Given the description of an element on the screen output the (x, y) to click on. 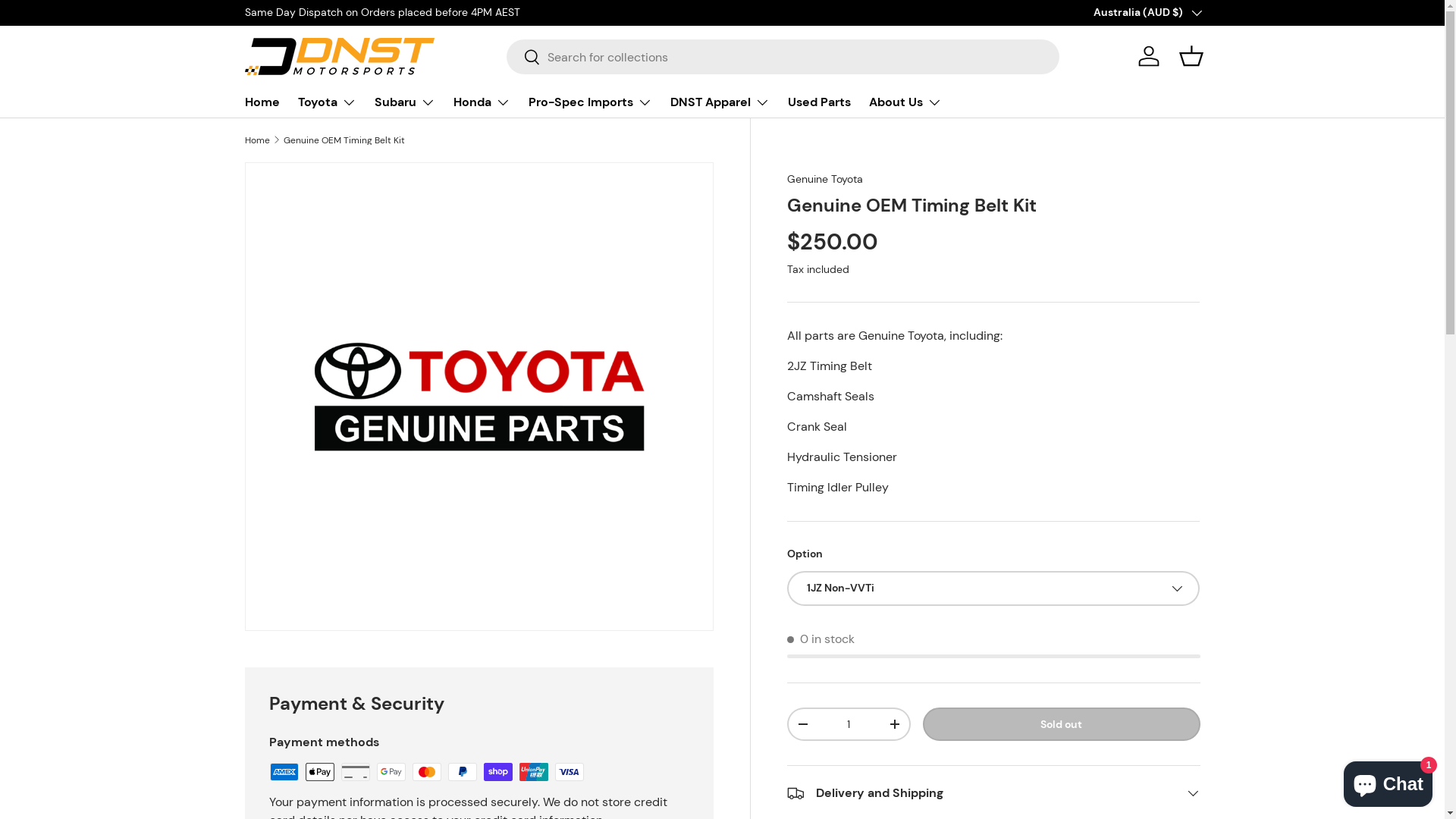
Home Element type: text (261, 101)
Log in Element type: text (1147, 55)
Basket Element type: text (1190, 55)
Sold out Element type: text (1061, 724)
Toyota Element type: text (326, 102)
Honda Element type: text (481, 102)
Pro-Spec Imports Element type: text (589, 102)
Search Element type: text (523, 57)
Australia (AUD $) Element type: text (1146, 12)
DNST Apparel Element type: text (719, 102)
Genuine OEM Timing Belt Kit Element type: text (343, 139)
Subaru Element type: text (404, 102)
1JZ Non-VVTi Element type: text (993, 588)
Genuine Toyota Element type: text (824, 178)
Home Element type: text (256, 139)
About Us Element type: text (905, 102)
Shopify online store chat Element type: hover (1388, 780)
+ Element type: text (894, 723)
Used Parts Element type: text (818, 101)
Skip to content Element type: text (68, 21)
- Element type: text (802, 723)
